Given the description of an element on the screen output the (x, y) to click on. 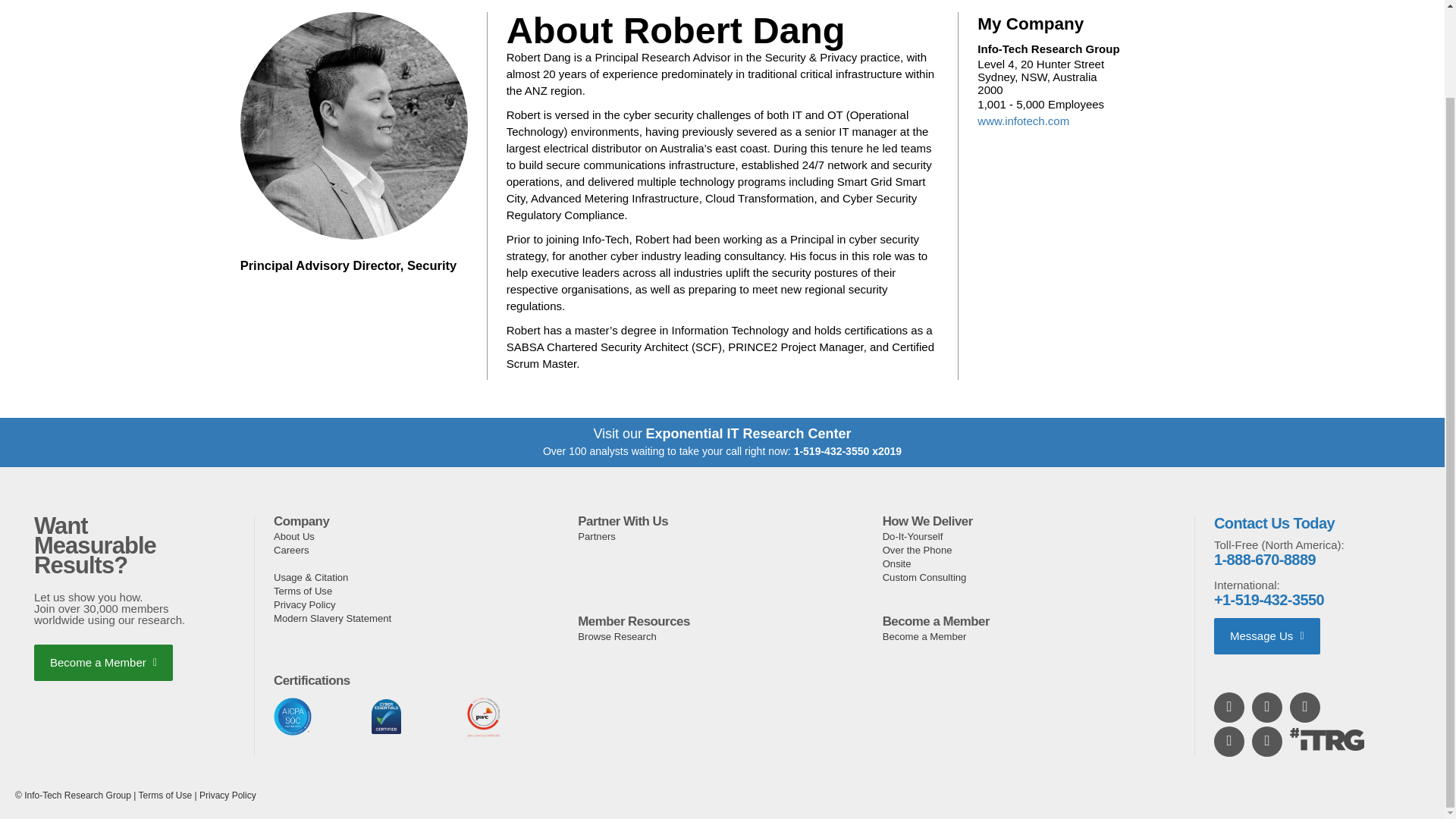
Hashtag ITRG icon (1327, 739)
Terms of Use (302, 591)
Watch us on YouTube (1267, 707)
Careers (290, 550)
Folow us on TikTok (1267, 740)
www.infotech.com (1022, 119)
Become a Member  (103, 662)
Privacy Policy (304, 604)
Find us on LinkedIn (1230, 707)
Folow us on Instagram (1230, 740)
About Us (293, 536)
Exponential IT Research Center (748, 433)
Modern Slavery Statement (332, 618)
Folow us on Twitter (1305, 707)
1-519-432-3550 x2019 (847, 451)
